Given the description of an element on the screen output the (x, y) to click on. 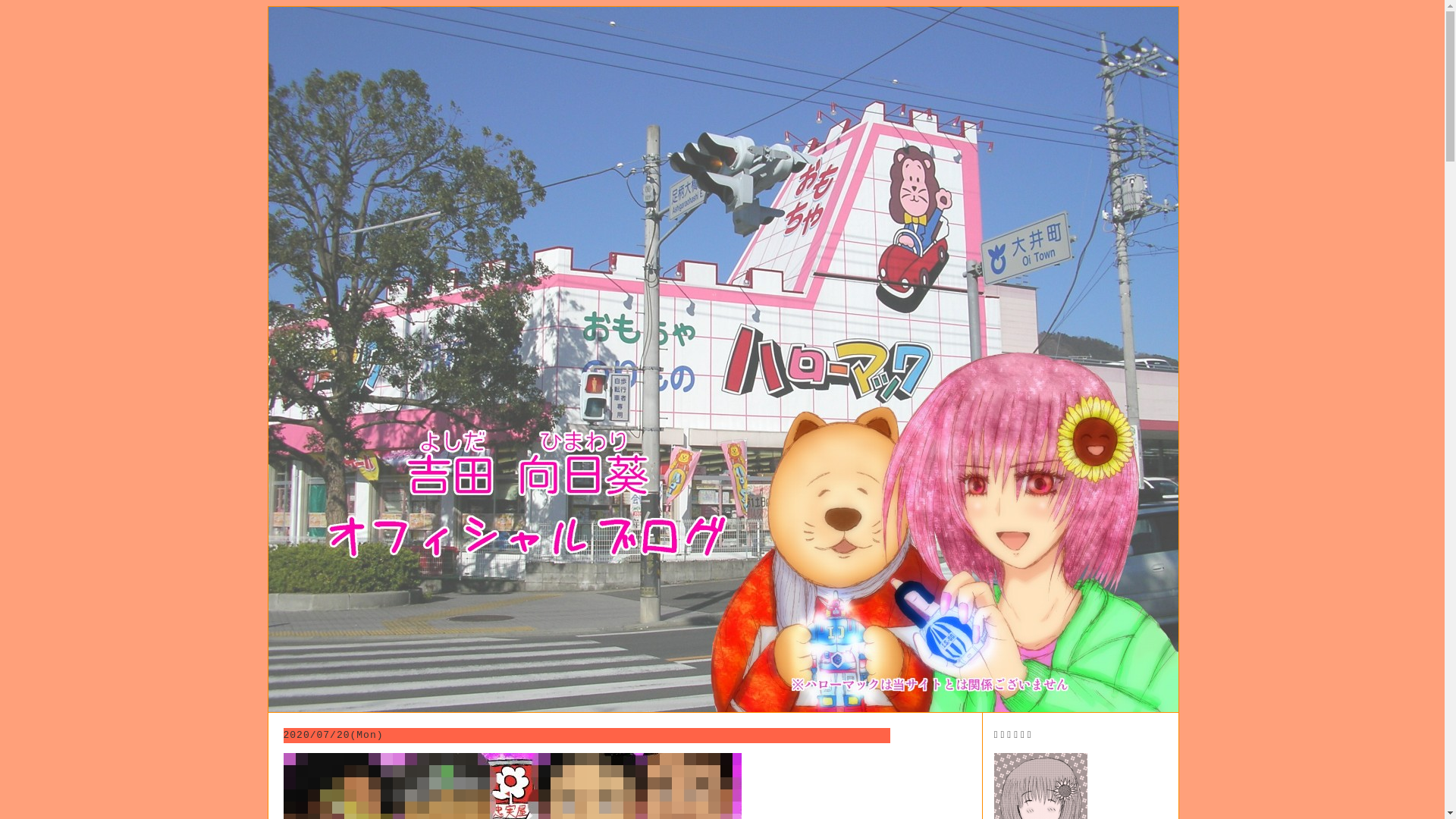
2020/07/20(Mon) Element type: text (333, 734)
